Given the description of an element on the screen output the (x, y) to click on. 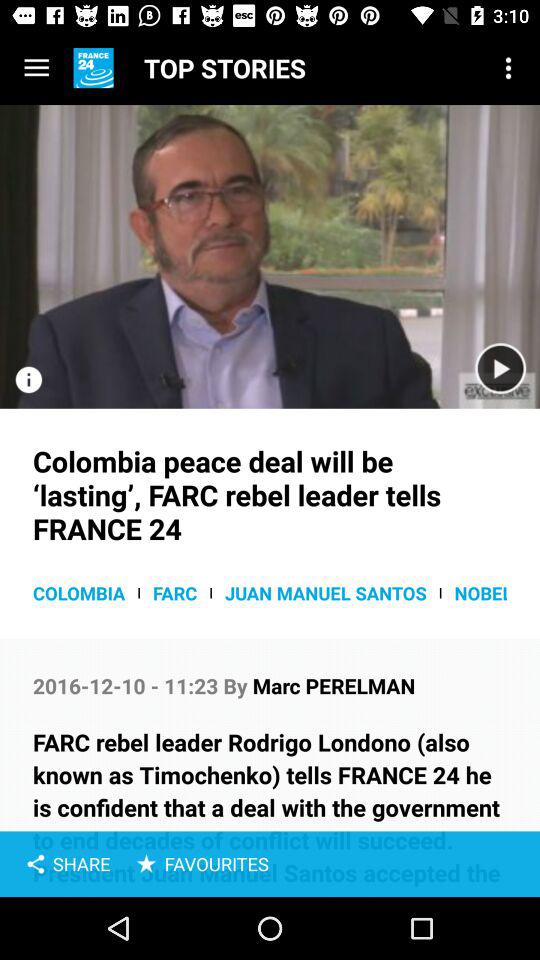
turn on the item to the right of the top stories (508, 67)
